Given the description of an element on the screen output the (x, y) to click on. 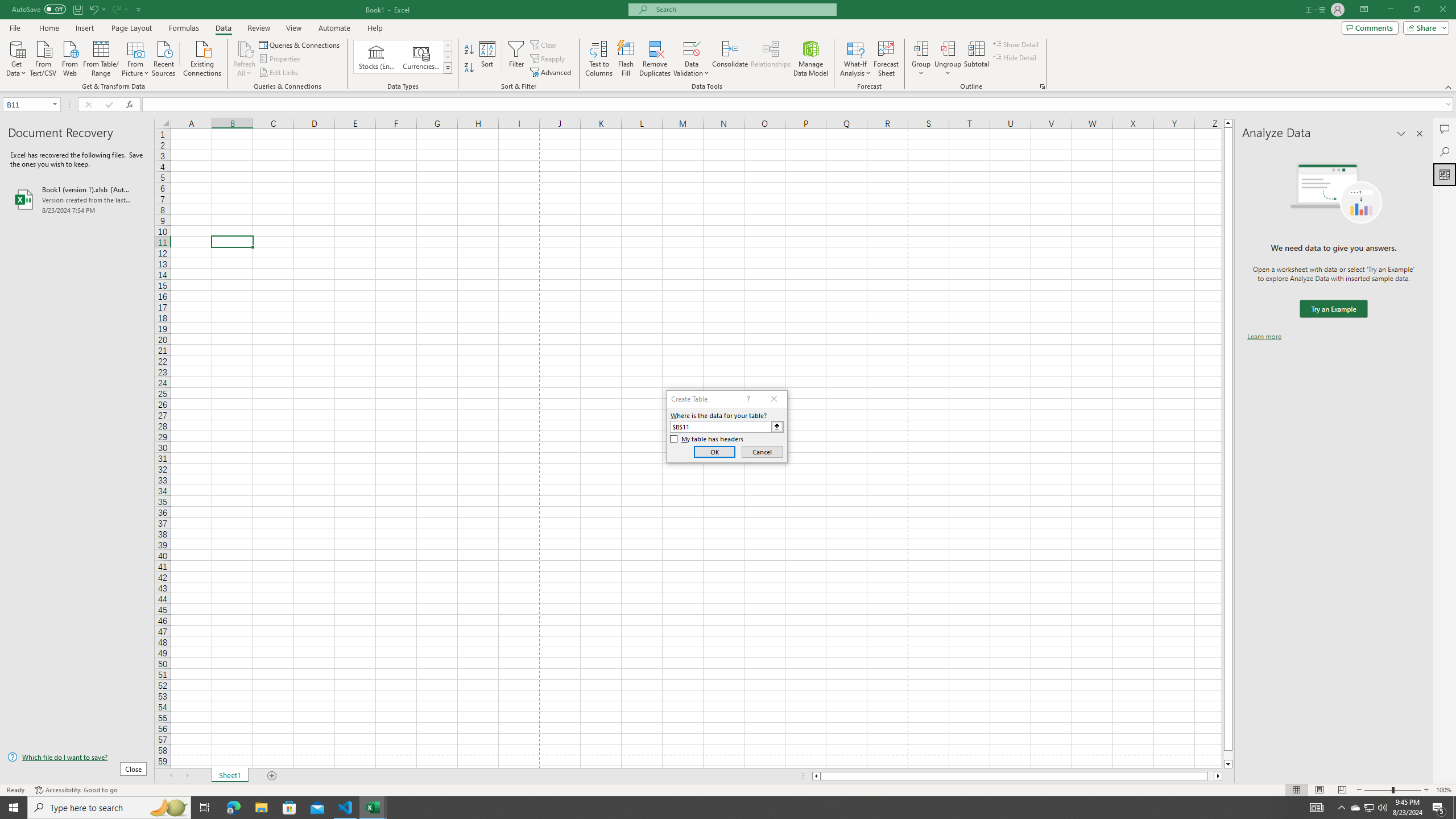
More Options (947, 68)
Group and Outline Settings (1042, 85)
Page down (1228, 755)
Subtotal (976, 58)
System (6, 6)
We need data to give you answers. Try an Example (1333, 308)
Name Box (30, 104)
Task Pane Options (1400, 133)
Redo (119, 9)
Redo (115, 9)
Ungroup... (947, 48)
Show Detail (1016, 44)
Forecast Sheet (885, 58)
Restore Down (1416, 9)
Get Data (16, 57)
